Given the description of an element on the screen output the (x, y) to click on. 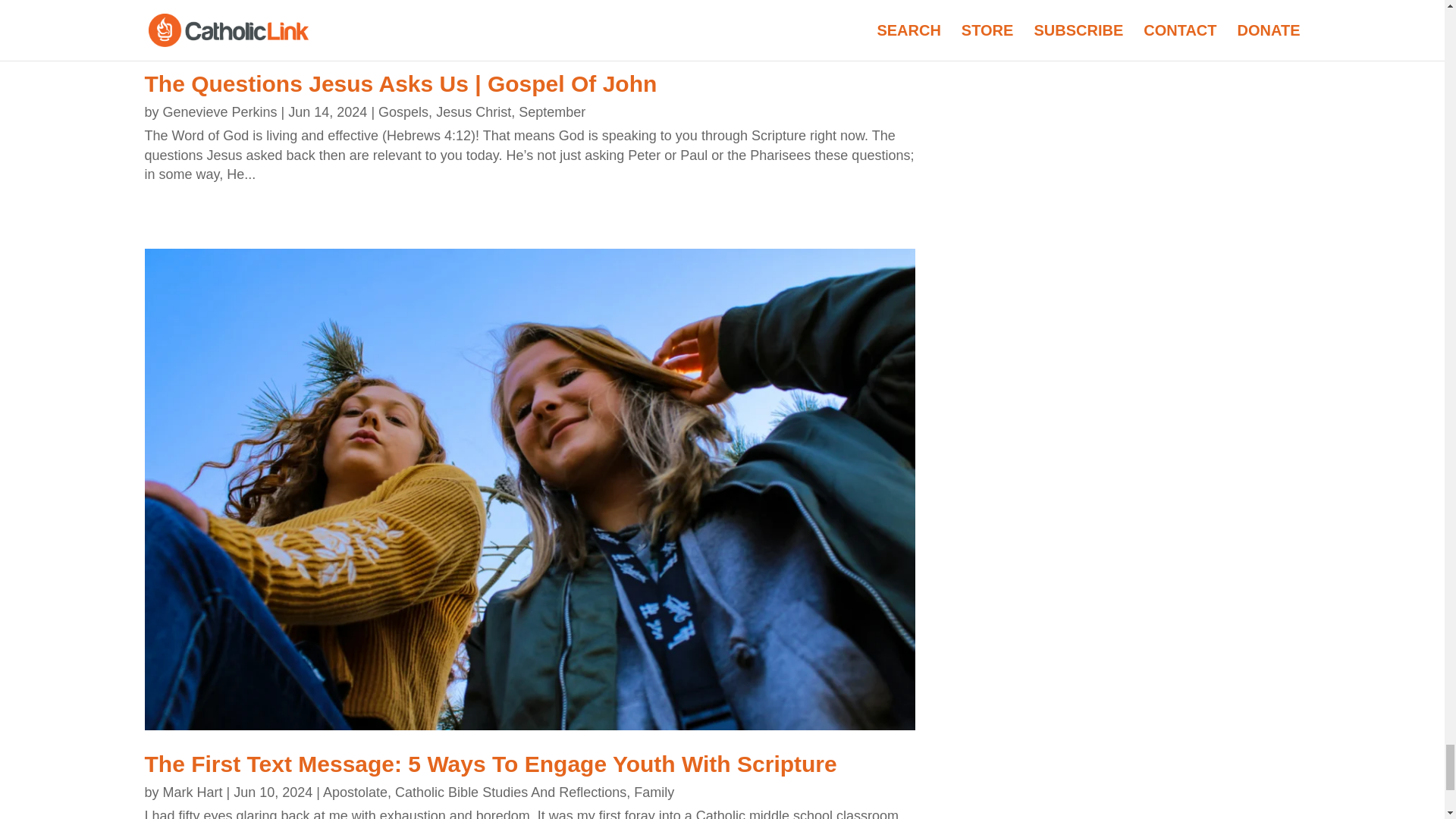
Posts by Genevieve Perkins (220, 111)
